Given the description of an element on the screen output the (x, y) to click on. 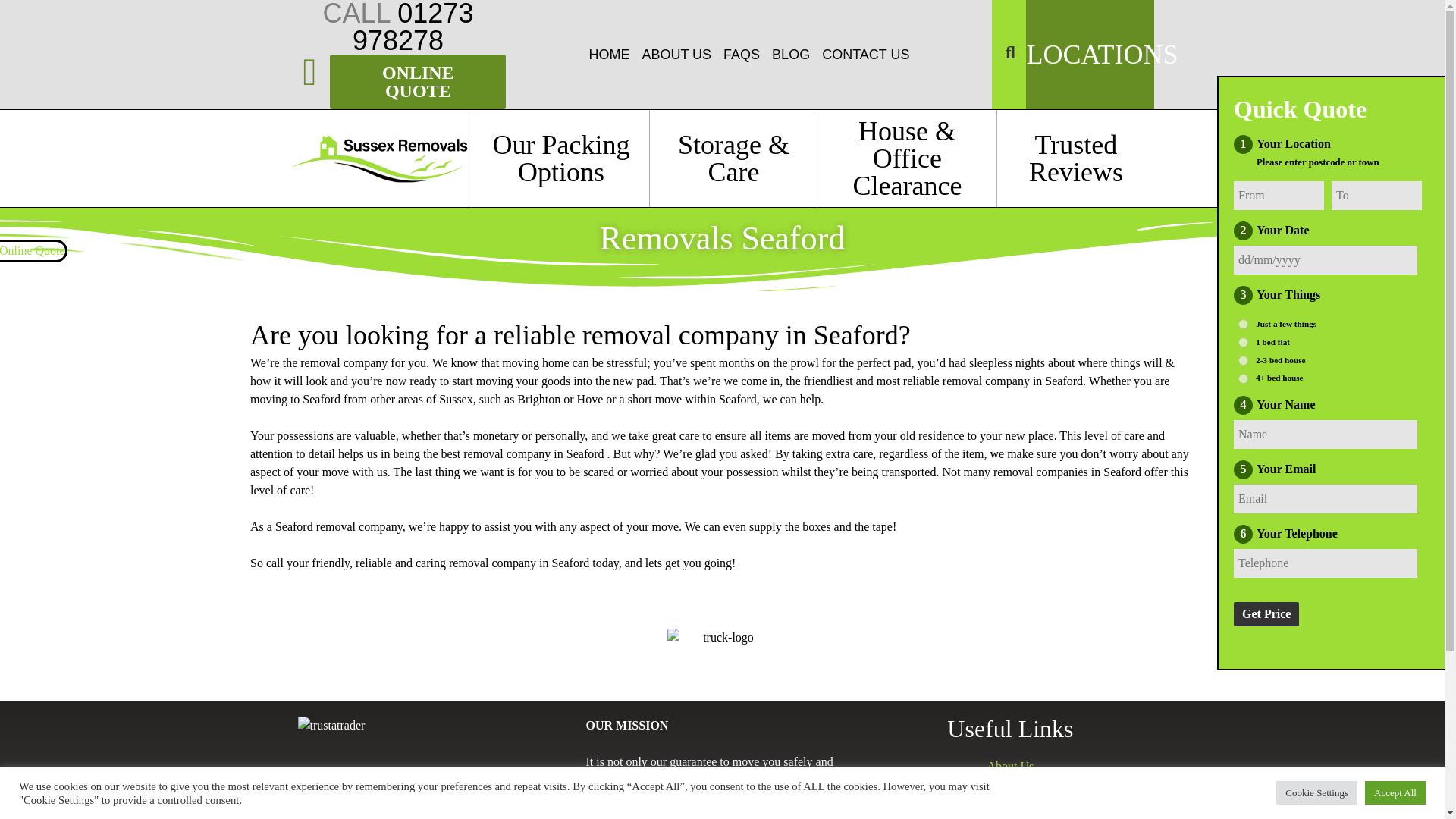
CALL 01273 978278 (398, 28)
2-3 bed house (1243, 360)
Just a few things (1243, 324)
Get Price (1265, 613)
HOME (608, 54)
BLOG (790, 54)
1 bed flat (1243, 342)
Our Packing Options (560, 158)
Trusted Reviews (1075, 158)
LOCATIONS (1101, 54)
FAQS (741, 54)
CONTACT US (865, 54)
ONLINE QUOTE (418, 81)
ABOUT US (675, 54)
